Given the description of an element on the screen output the (x, y) to click on. 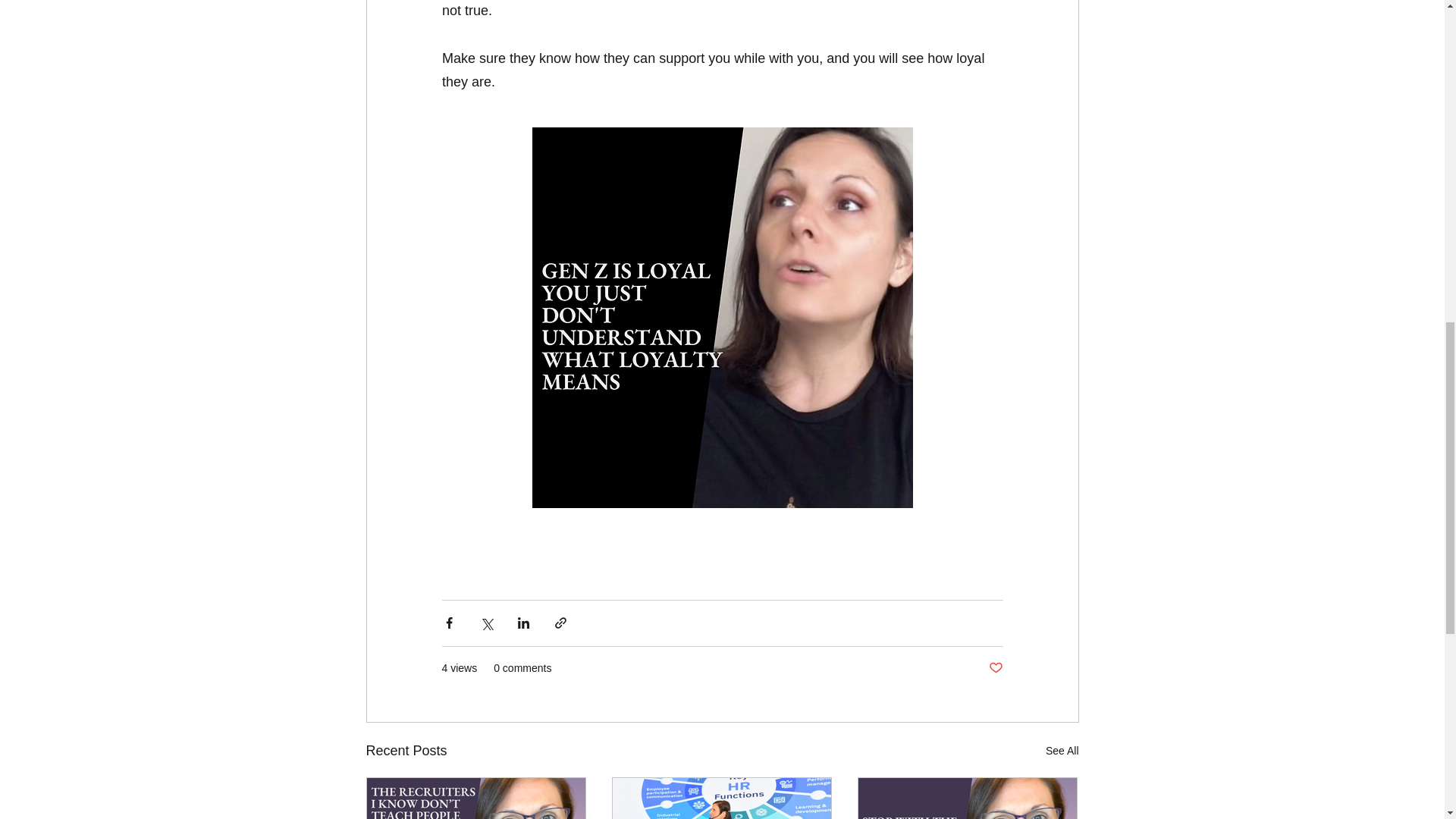
See All (1061, 751)
Post not marked as liked (995, 667)
